Given the description of an element on the screen output the (x, y) to click on. 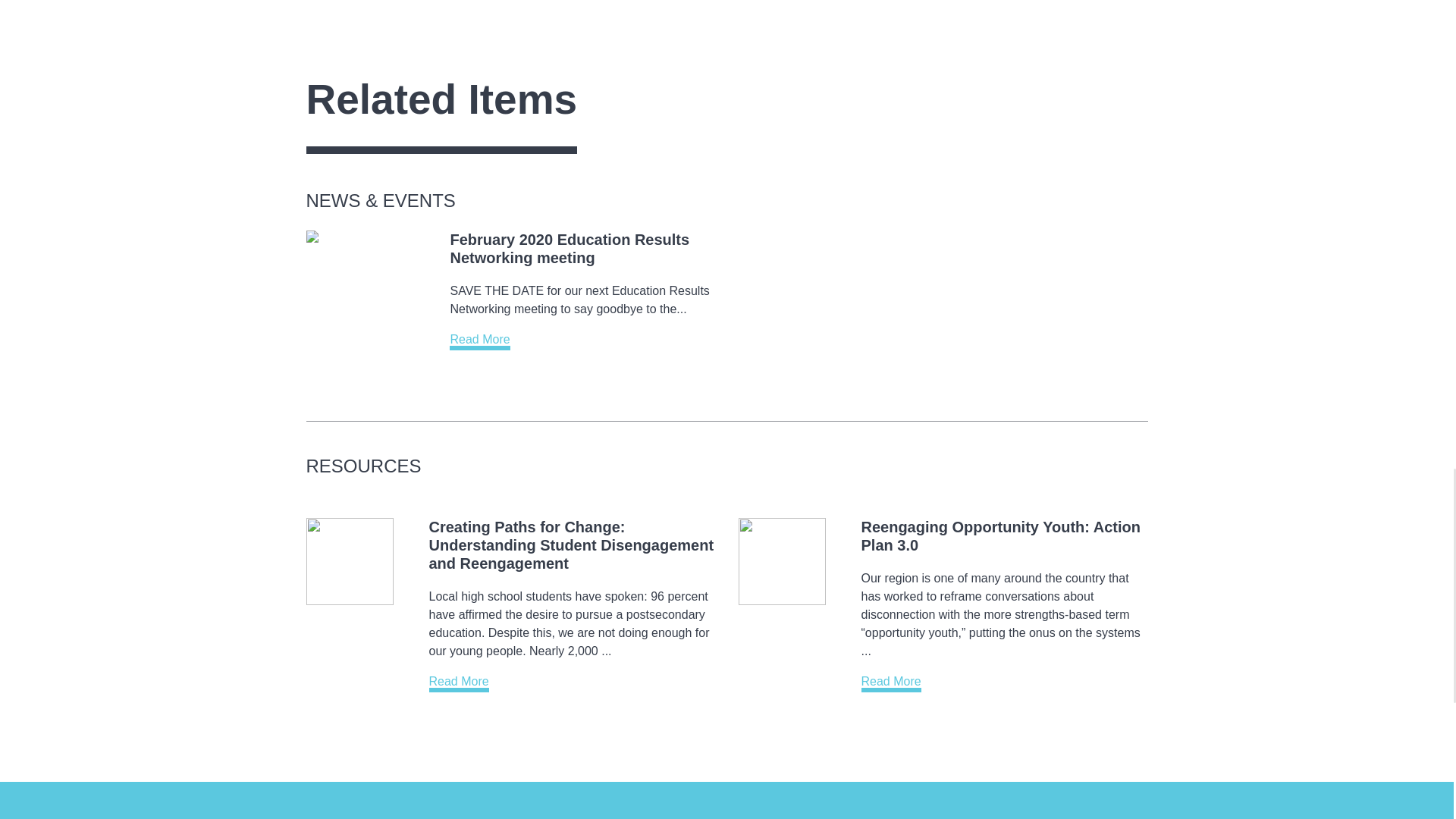
Reengaging Opportunity Youth: Action Plan 3.0 (1001, 535)
Read More (459, 683)
February 2020 Education Results Networking meeting (568, 248)
Read More (479, 341)
Read More (891, 683)
